Given the description of an element on the screen output the (x, y) to click on. 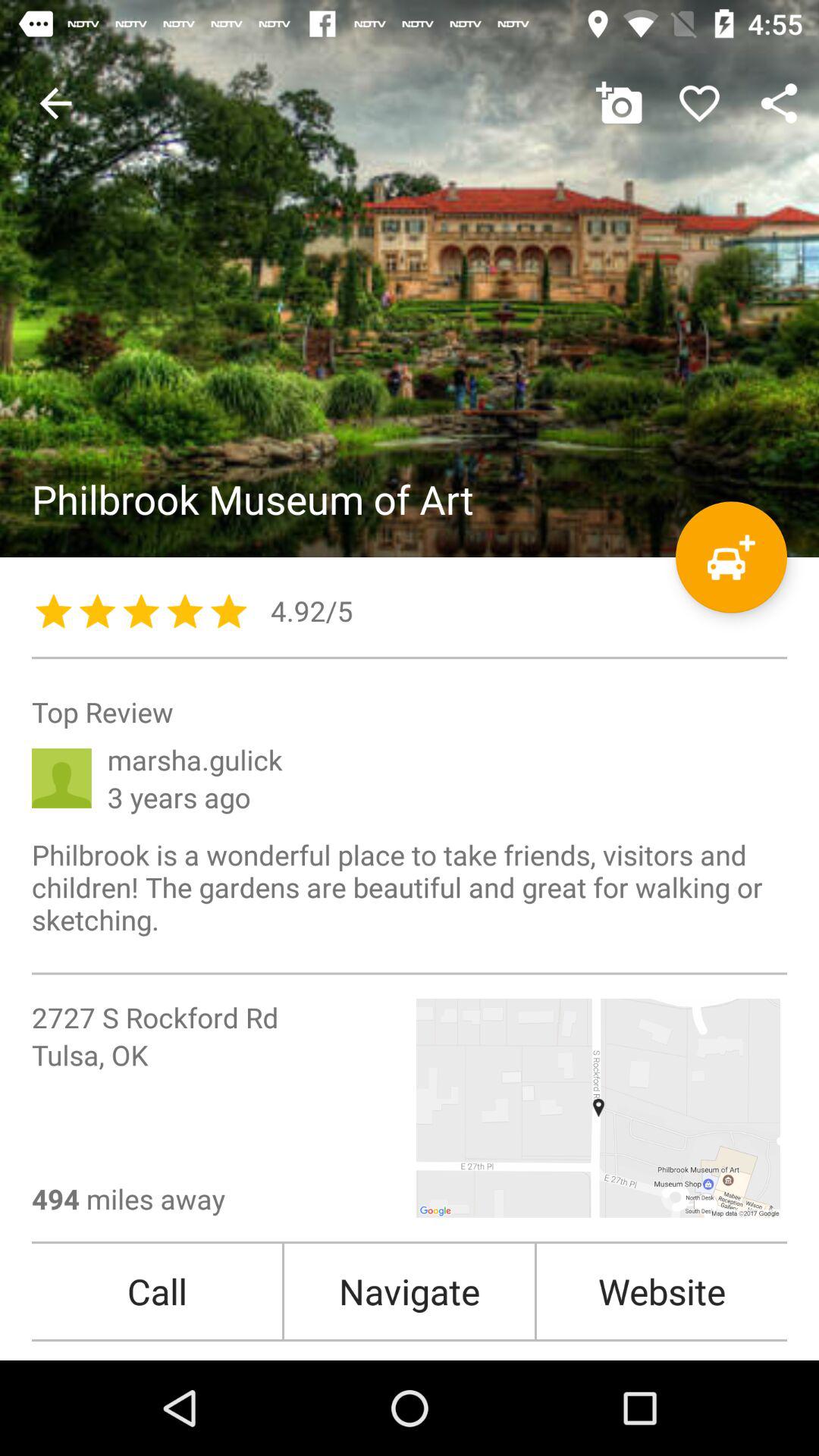
connect to site (409, 278)
